Given the description of an element on the screen output the (x, y) to click on. 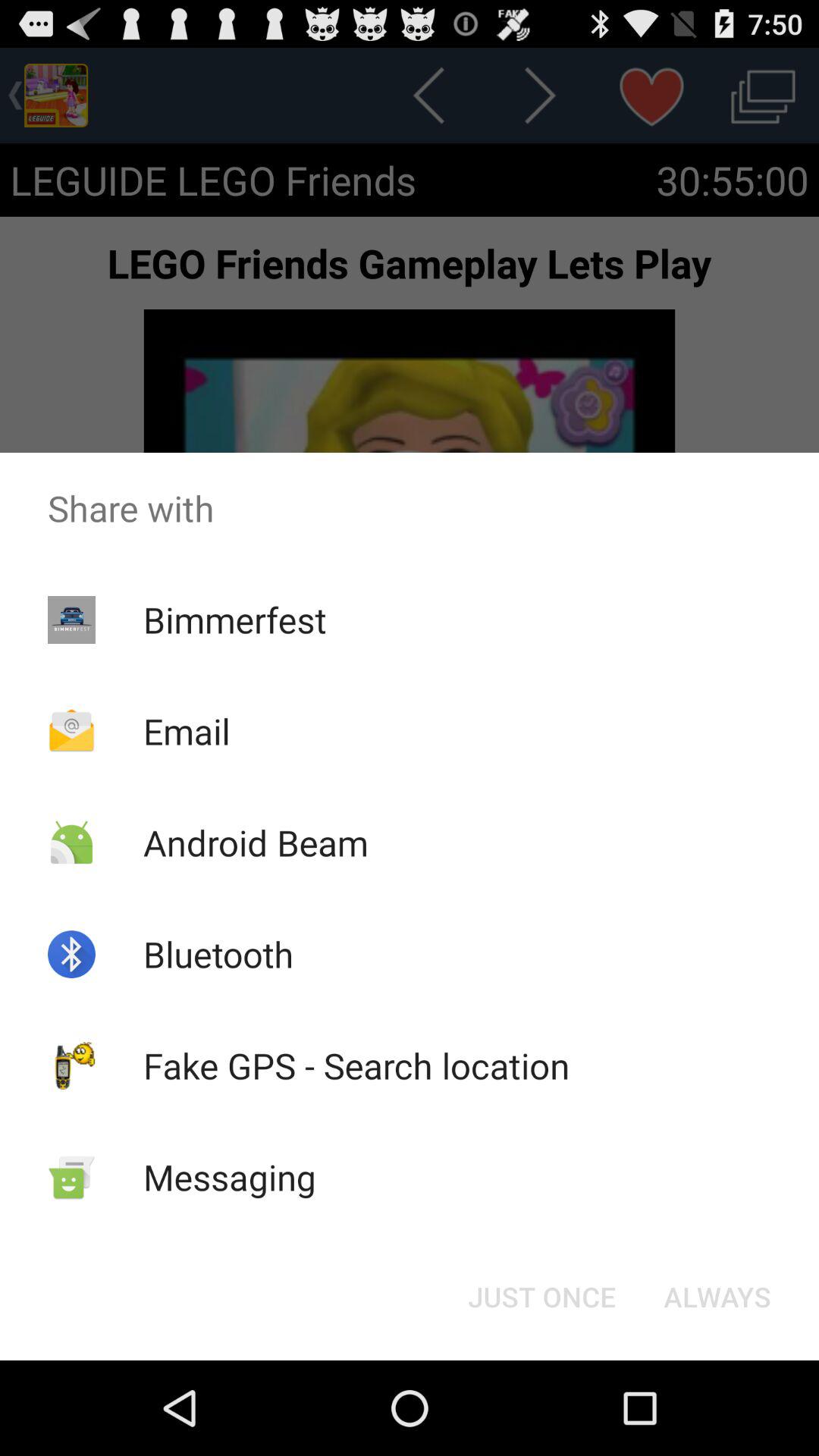
flip until always button (717, 1296)
